Given the description of an element on the screen output the (x, y) to click on. 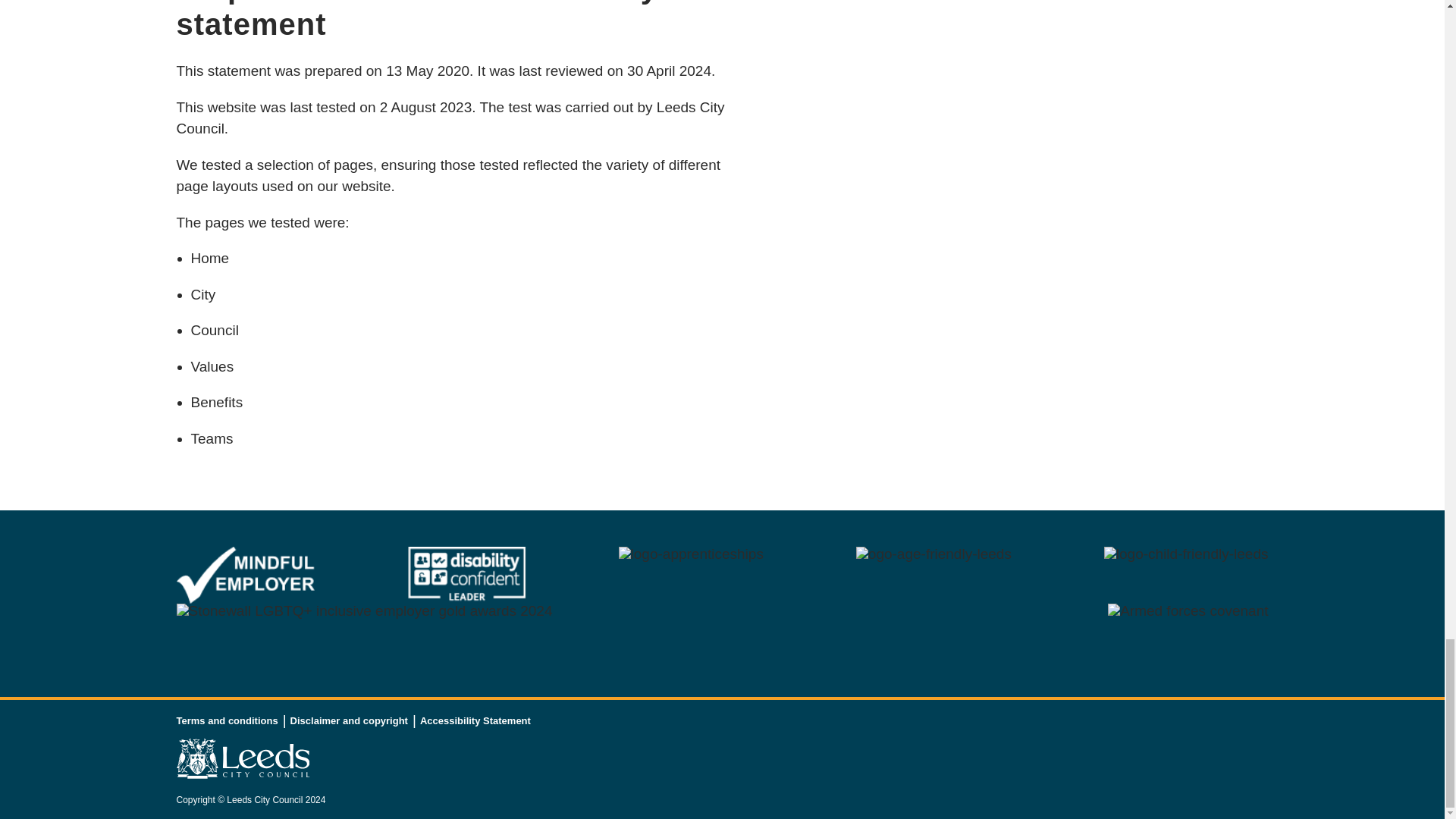
Accessibility Statement (475, 720)
Leeds City Council (242, 758)
Disclaimer and copyright (348, 720)
Terms and conditions (227, 720)
